Given the description of an element on the screen output the (x, y) to click on. 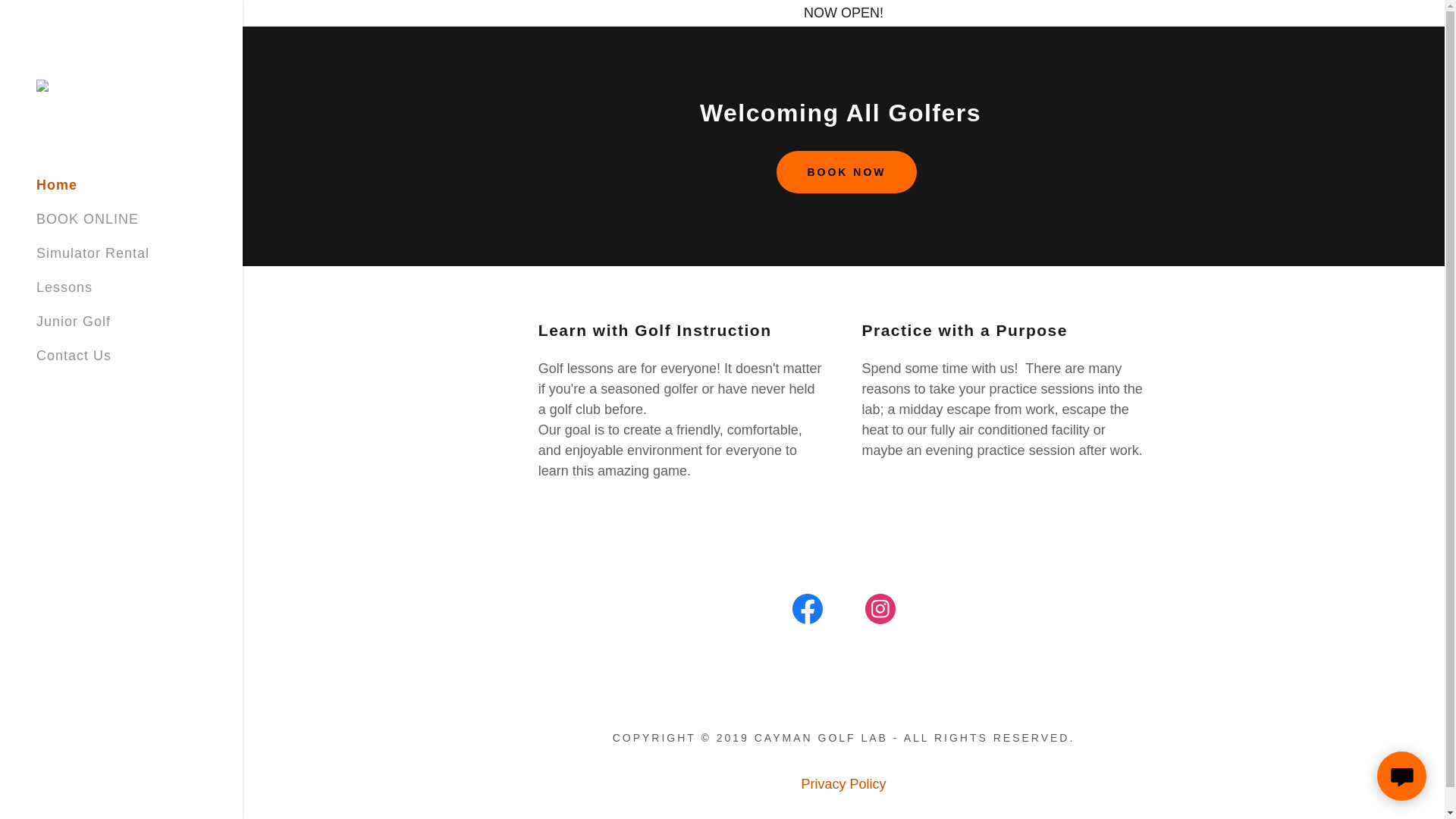
BOOK ONLINE (87, 218)
Simulator Rental (92, 253)
Contact Us (74, 355)
Lessons (64, 287)
Privacy Policy (842, 784)
Home (56, 184)
BOOK NOW (845, 171)
Junior Golf (73, 321)
